Given the description of an element on the screen output the (x, y) to click on. 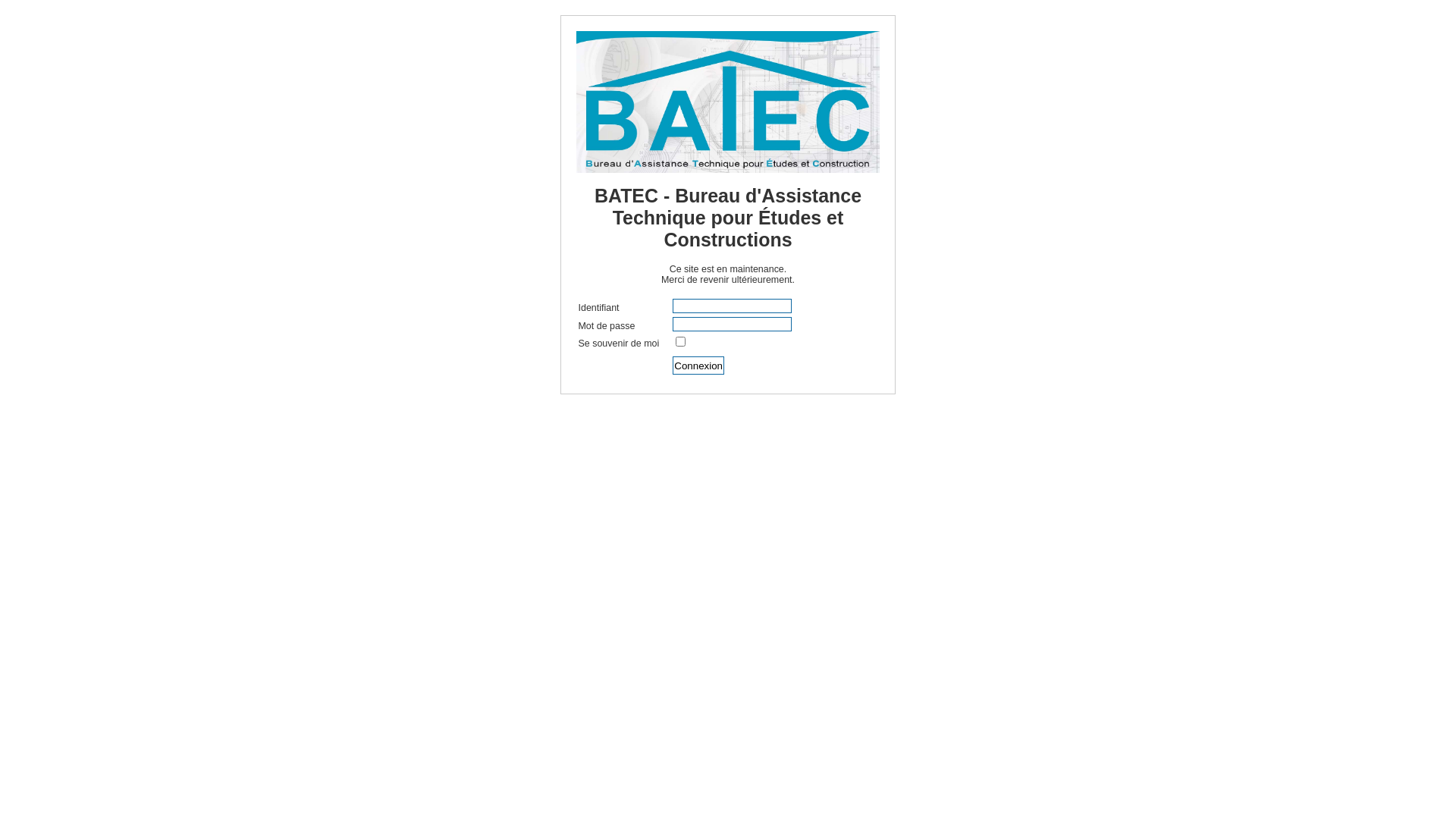
Connexion Element type: text (698, 365)
